Given the description of an element on the screen output the (x, y) to click on. 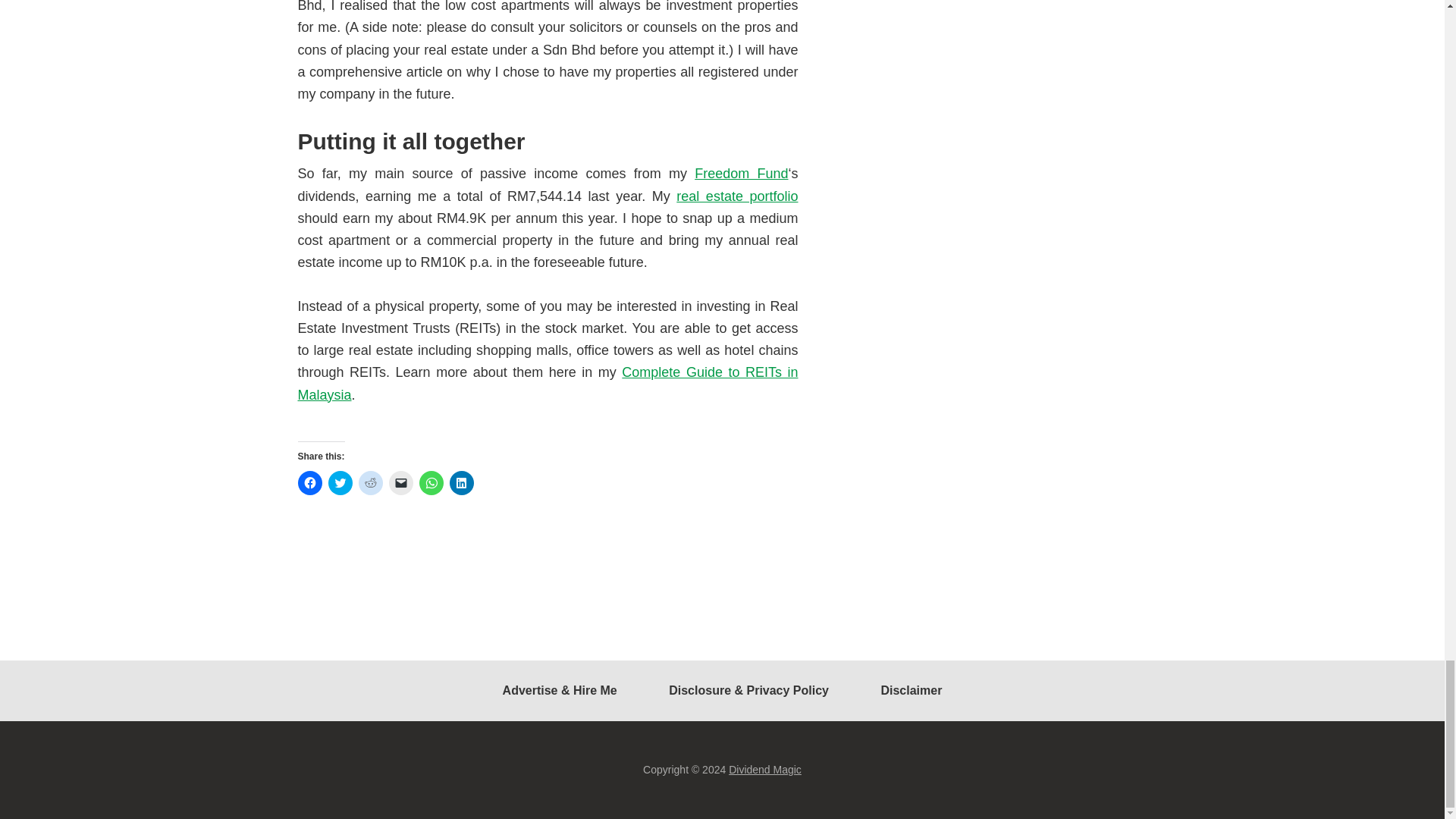
Click to share on Facebook (309, 482)
Click to email a link to a friend (400, 482)
Click to share on WhatsApp (430, 482)
Click to share on LinkedIn (460, 482)
Click to share on Reddit (369, 482)
Click to share on Twitter (339, 482)
